Given the description of an element on the screen output the (x, y) to click on. 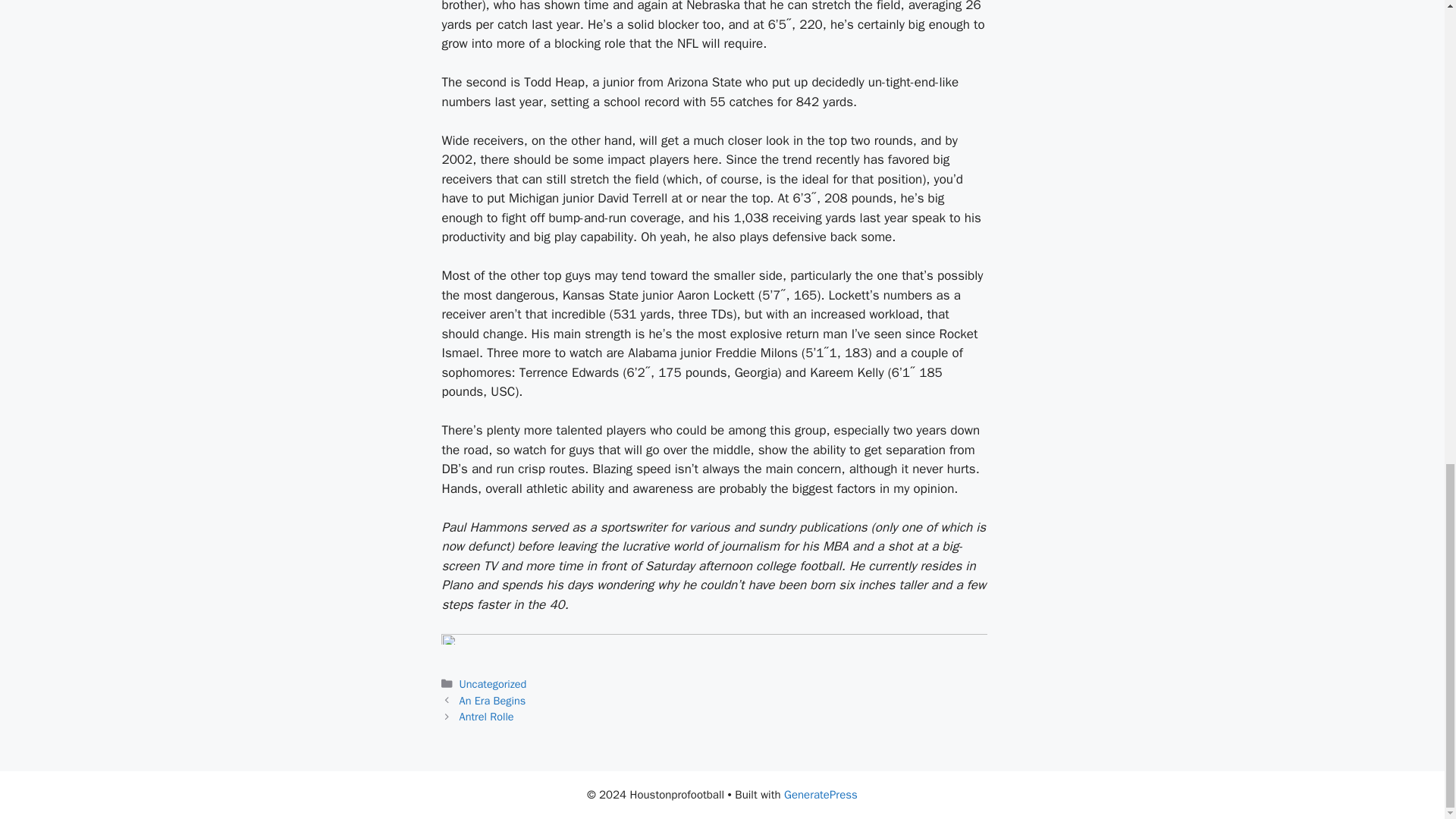
An Era Begins (492, 700)
GeneratePress (820, 794)
Uncategorized (493, 684)
Antrel Rolle (486, 716)
